Given the description of an element on the screen output the (x, y) to click on. 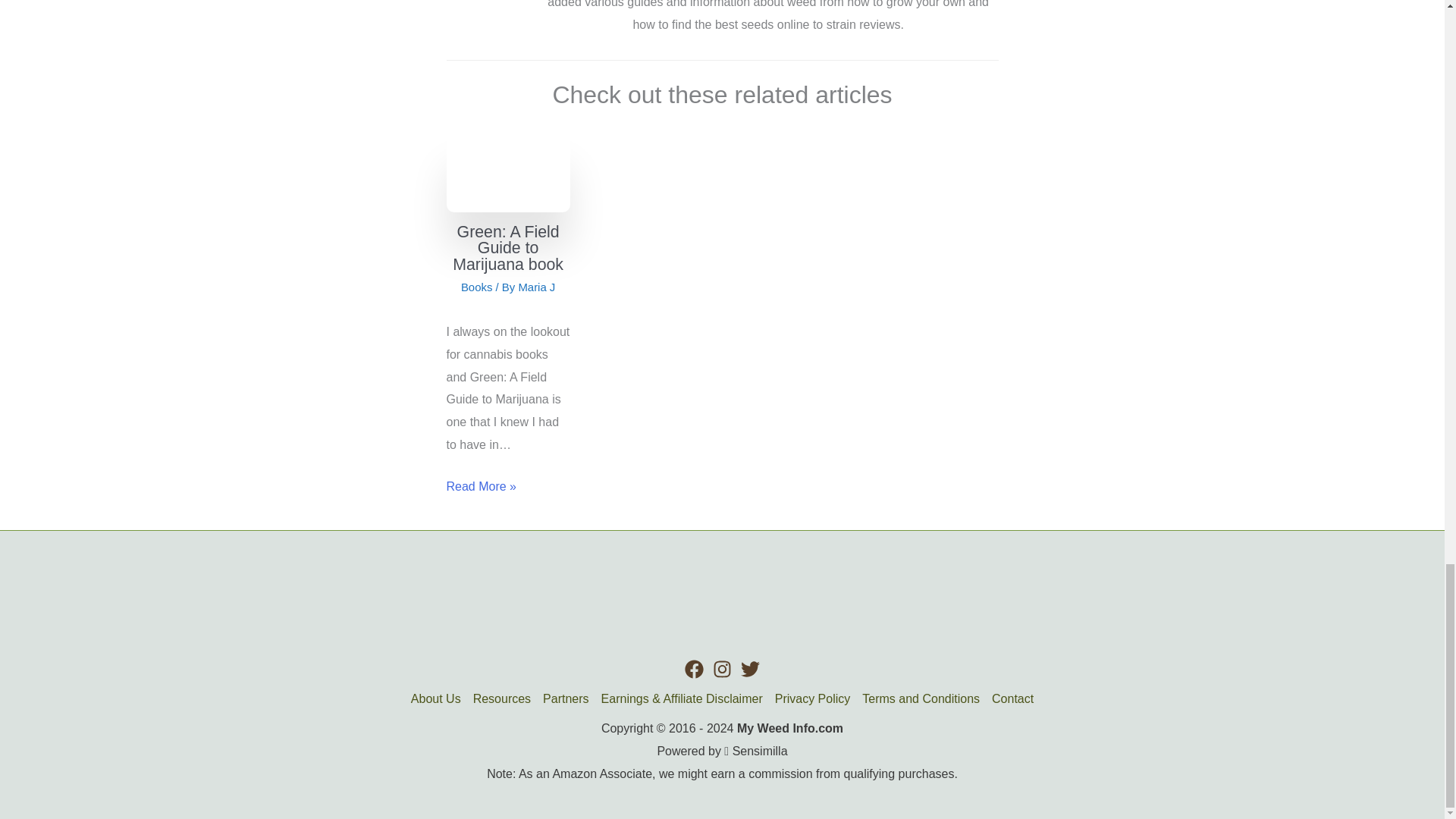
View all posts by Maria J (536, 286)
